Given the description of an element on the screen output the (x, y) to click on. 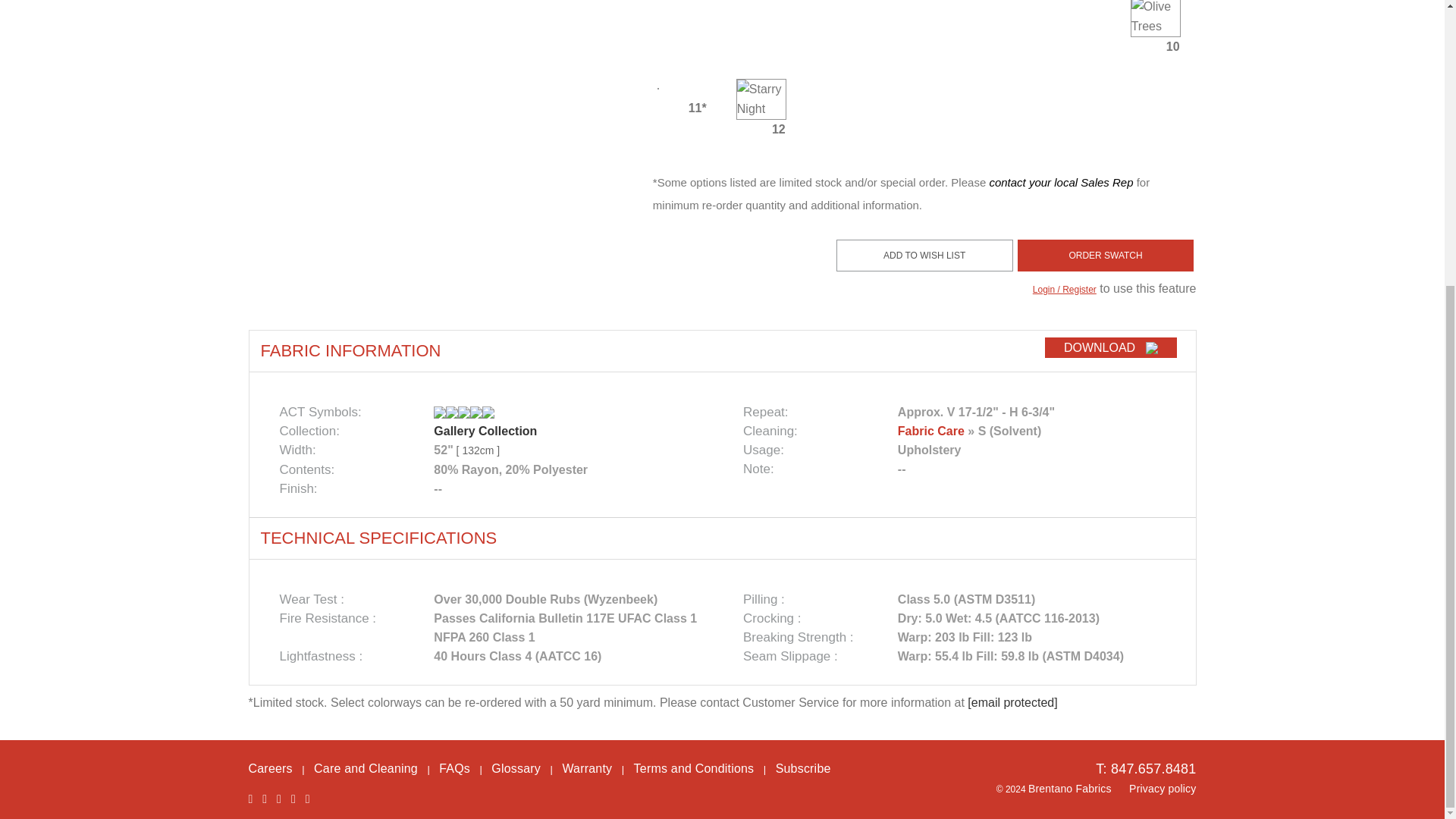
contact your local Sales Rep (1060, 181)
ADD TO WISH LIST (924, 255)
ORDER SWATCH (1105, 255)
